Given the description of an element on the screen output the (x, y) to click on. 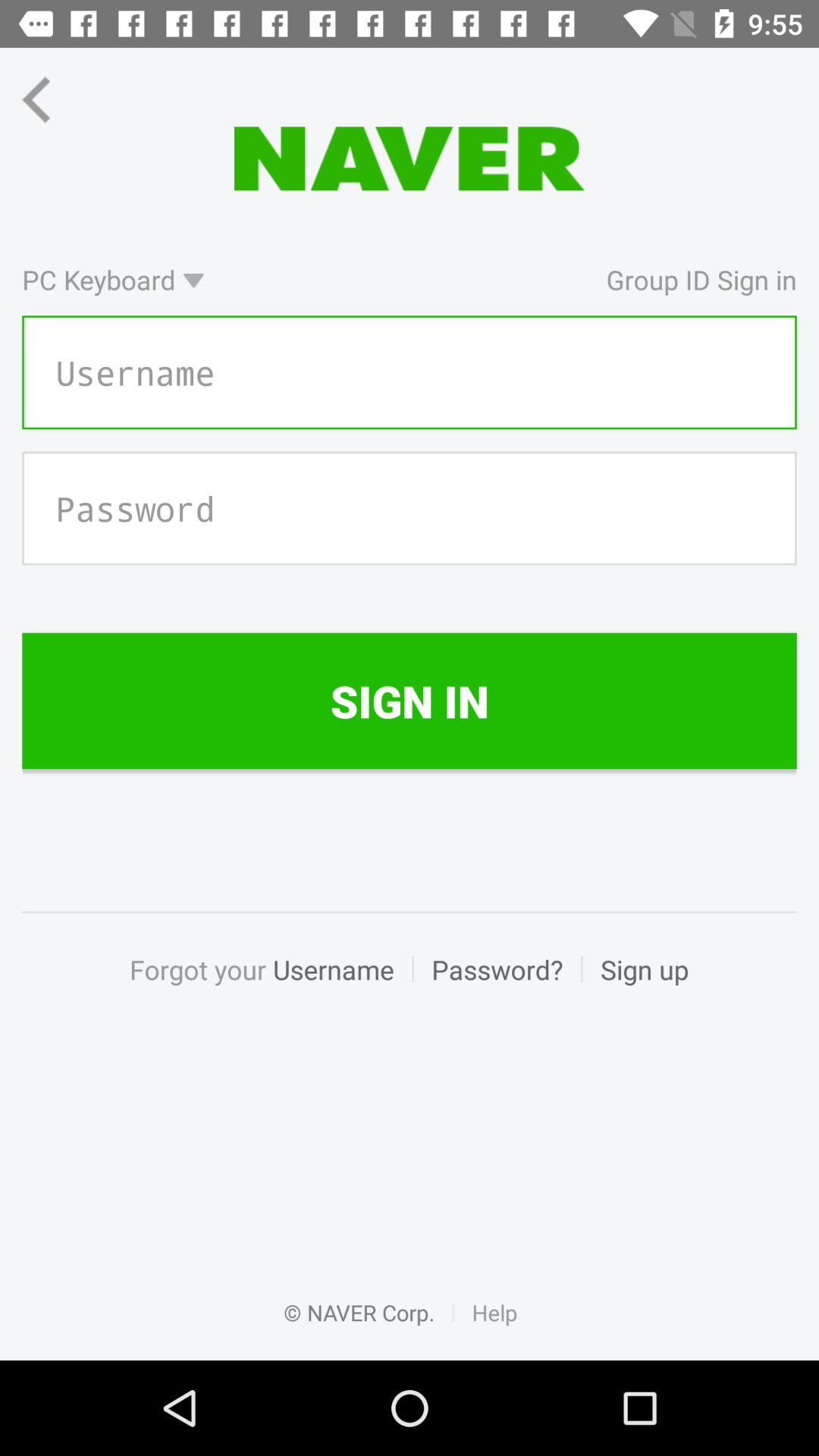
tap forgot your username app (270, 985)
